Given the description of an element on the screen output the (x, y) to click on. 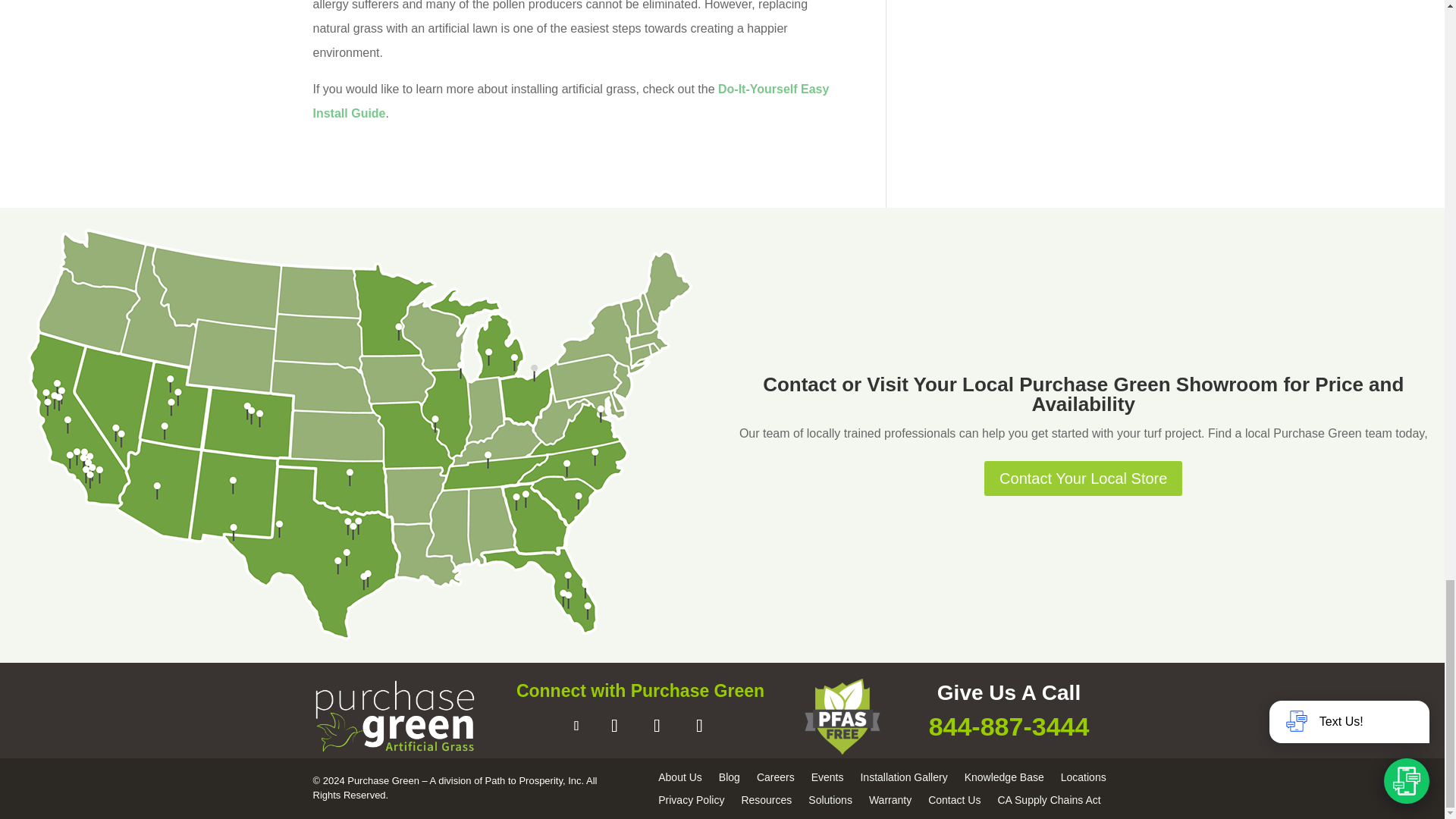
Follow on Youtube (657, 725)
Follow on Facebook (575, 725)
Follow on X (613, 725)
Follow on Instagram (699, 725)
Product Safety Information (841, 716)
pglogo2023-light (394, 715)
